Given the description of an element on the screen output the (x, y) to click on. 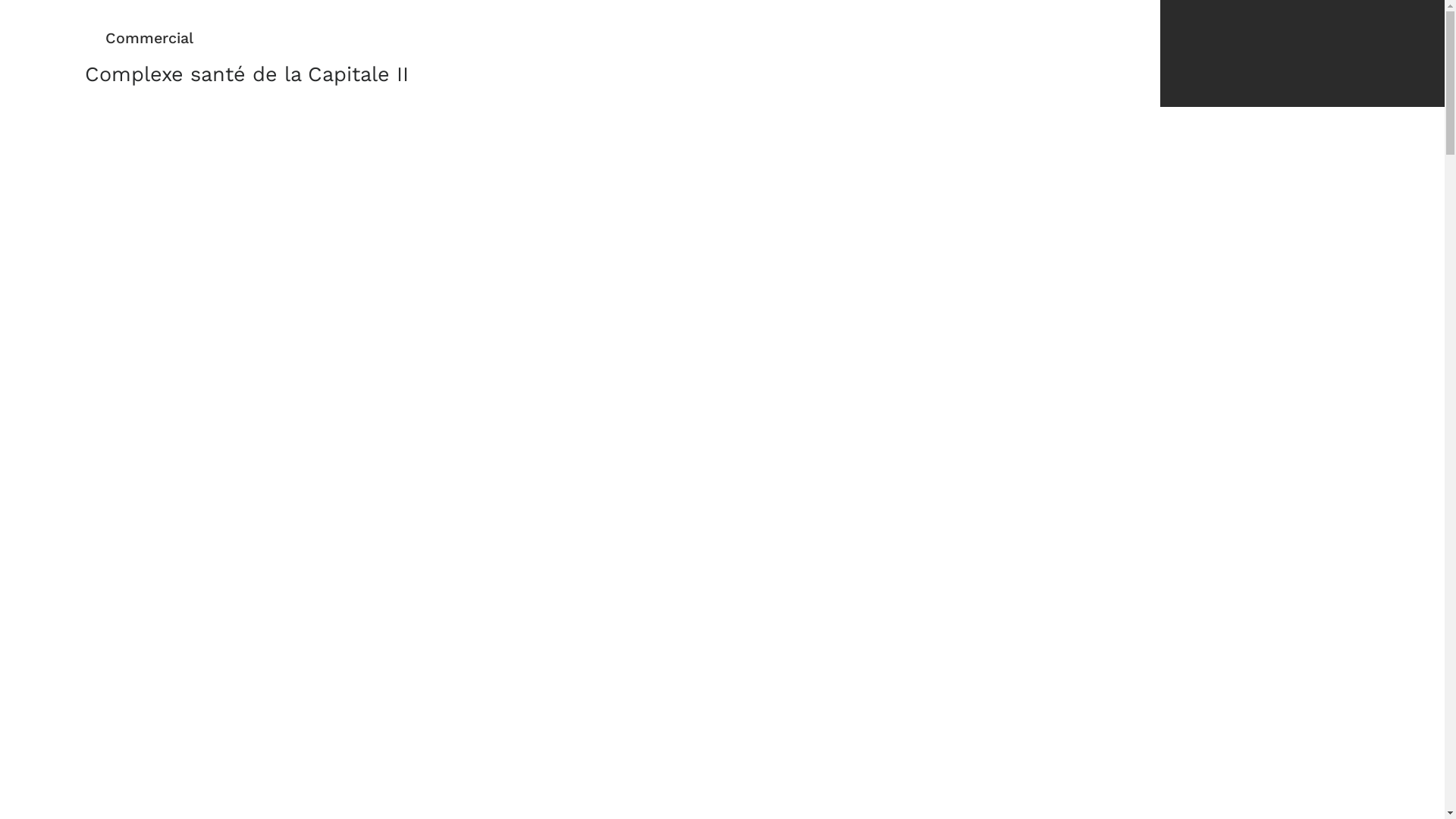
MENU Element type: text (1387, 56)
Commercial Element type: text (138, 38)
BFNA Element type: text (1245, 57)
